Given the description of an element on the screen output the (x, y) to click on. 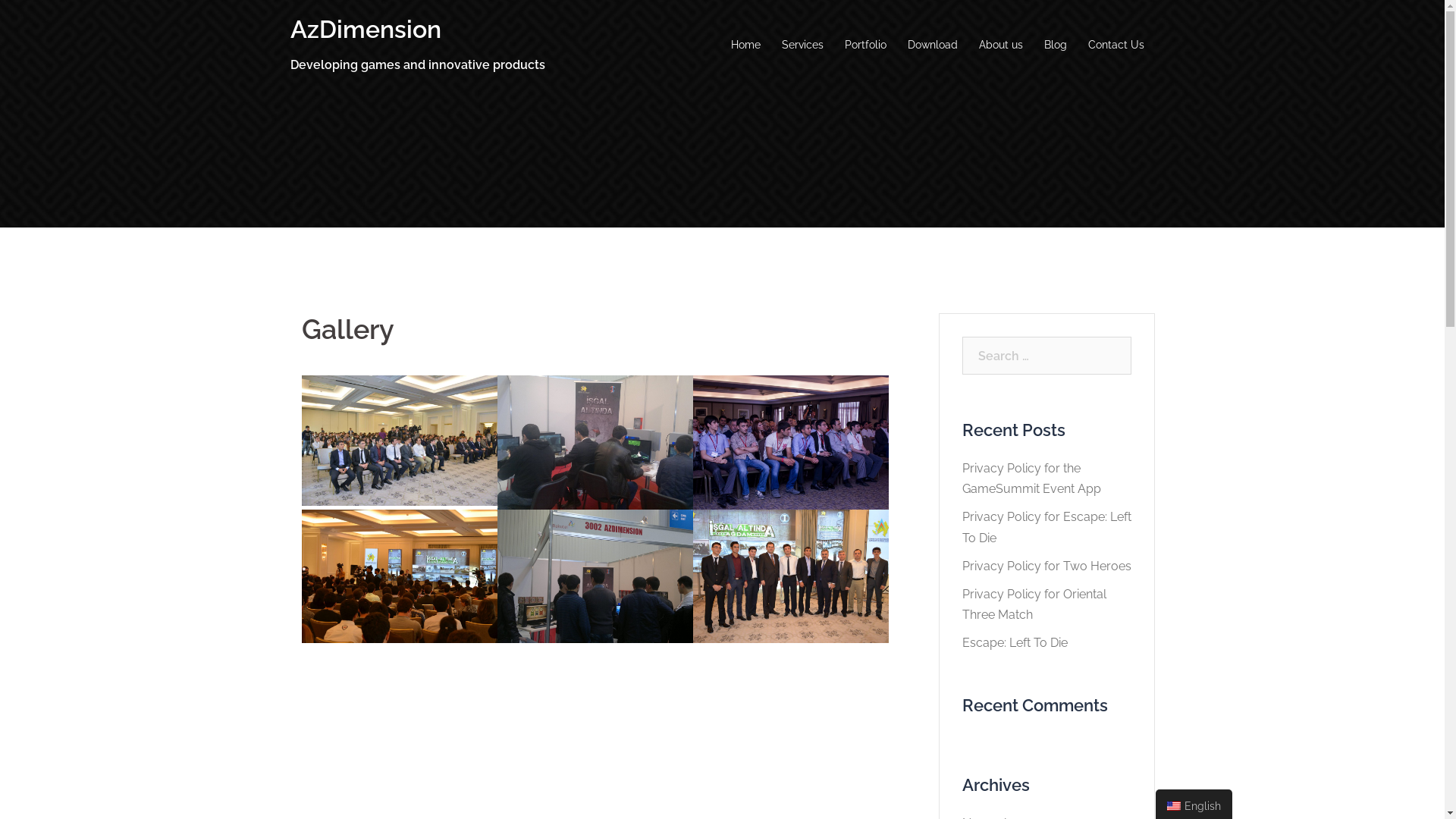
English Element type: hover (1173, 805)
Portfolio Element type: text (865, 45)
Escape: Left To Die Element type: text (1013, 642)
Skip to content Element type: text (0, 0)
Download Element type: text (931, 45)
Privacy Policy for the GameSummit Event App Element type: text (1030, 478)
AzDimension Element type: text (364, 29)
Privacy Policy for Escape: Left To Die Element type: text (1045, 526)
Search Element type: text (46, 18)
Services Element type: text (801, 45)
Blog Element type: text (1054, 45)
About us Element type: text (1000, 45)
Privacy Policy for Oriental Three Match Element type: text (1033, 603)
Privacy Policy for Two Heroes Element type: text (1045, 565)
Contact Us Element type: text (1115, 45)
Home Element type: text (745, 45)
